Given the description of an element on the screen output the (x, y) to click on. 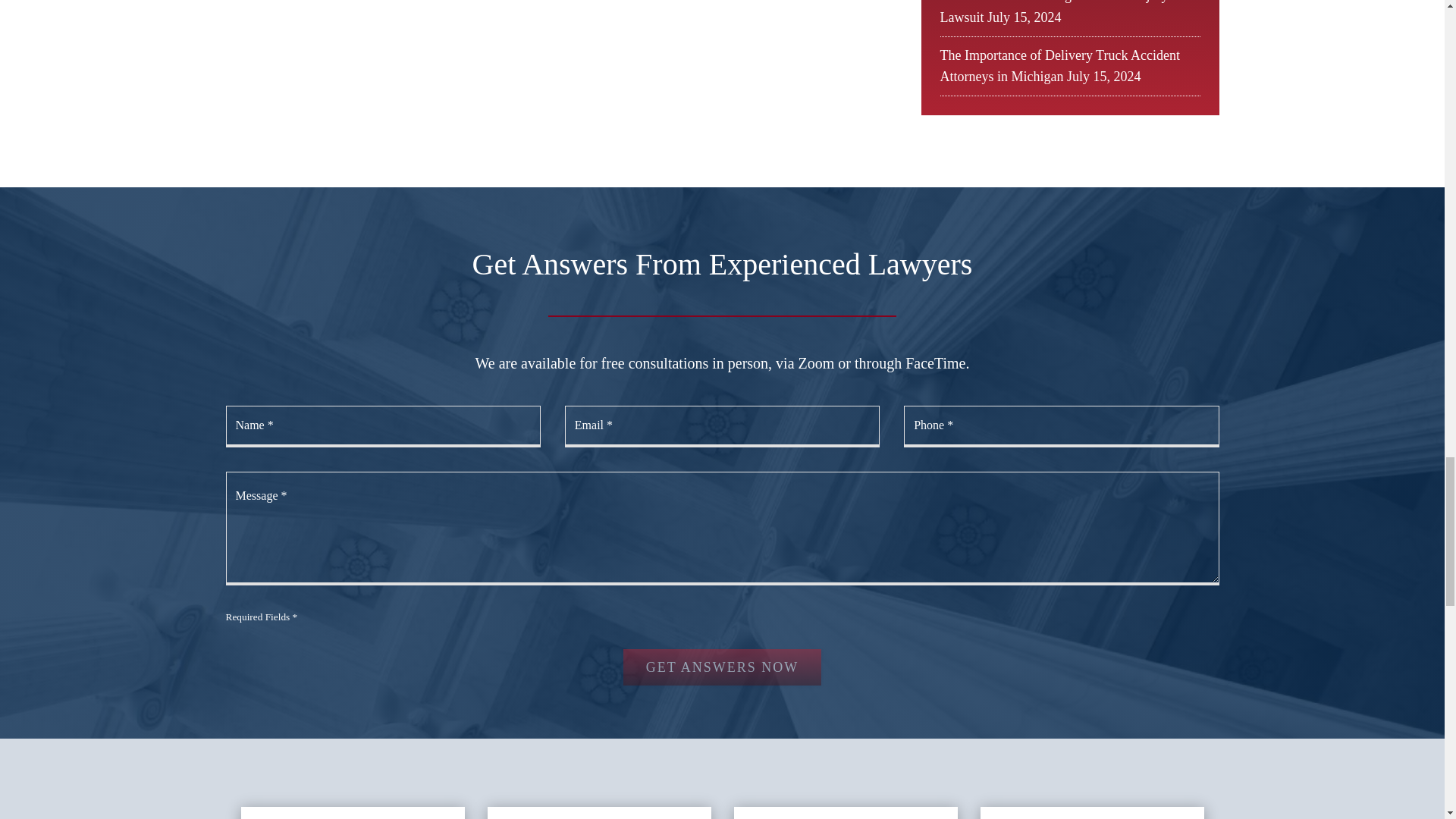
Get Answers Now (722, 667)
